Given the description of an element on the screen output the (x, y) to click on. 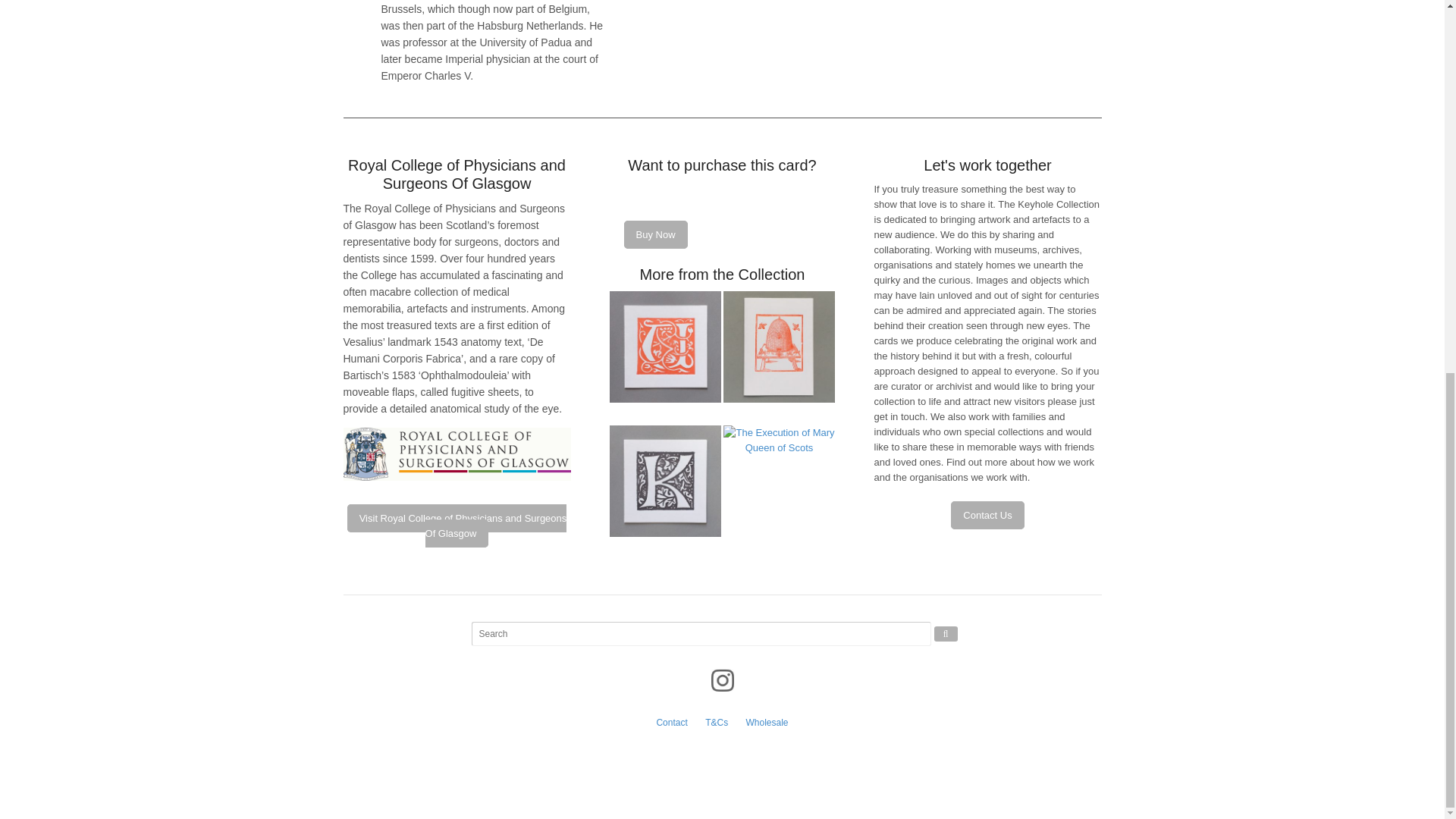
Search (946, 633)
Contact (671, 722)
Contact Us (986, 515)
Wholesale (767, 722)
Visit Royal College of Physicians and Surgeons Of Glasgow (457, 525)
Buy Now (655, 234)
